Given the description of an element on the screen output the (x, y) to click on. 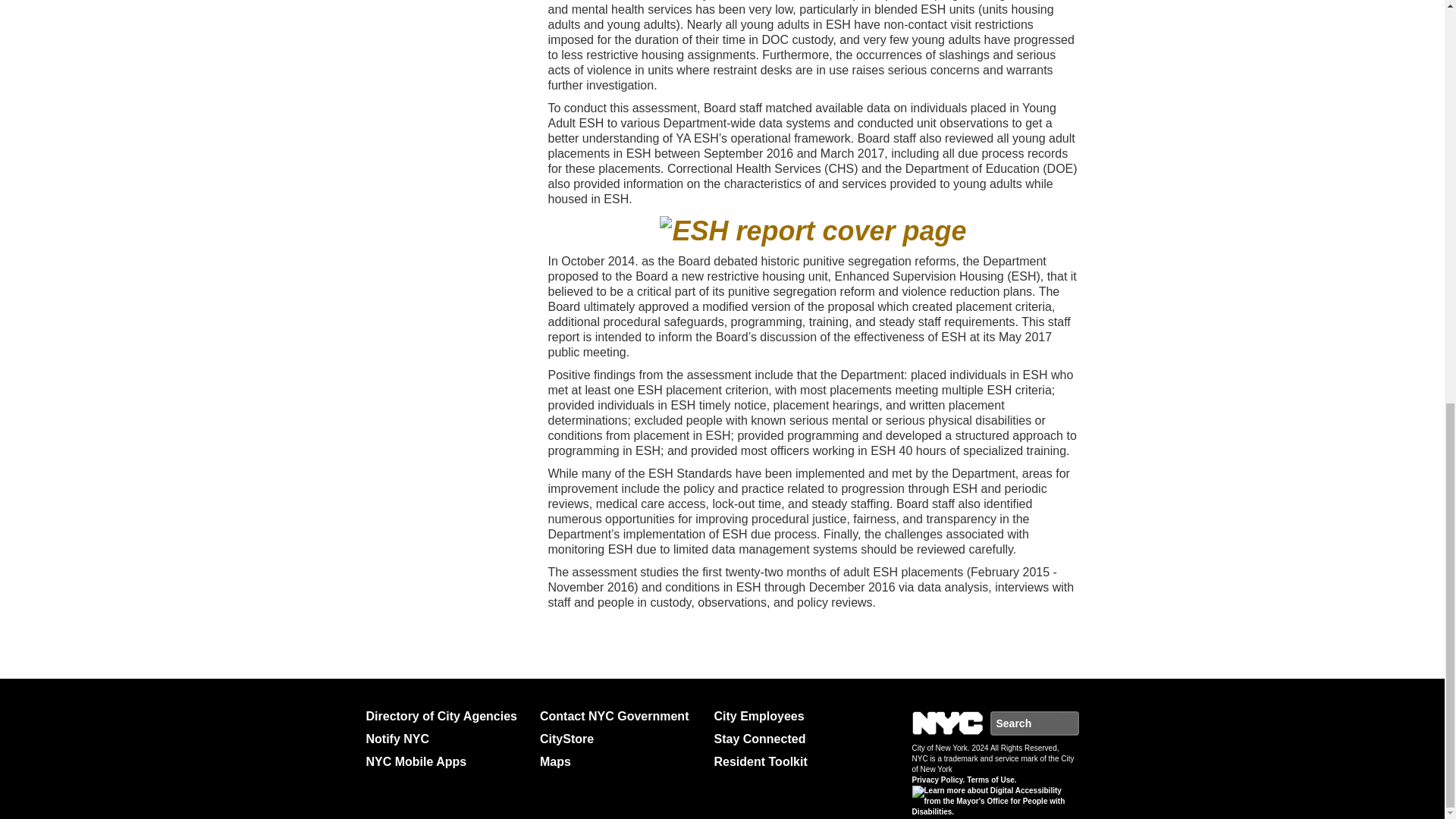
City Employees (795, 716)
Maps (620, 762)
CityStore (620, 739)
Directory of City Agencies (446, 716)
Stay Connected (795, 739)
Resident Toolkit (795, 762)
Notify NYC (446, 739)
Search (1068, 723)
Privacy Ploicy  (937, 779)
NYC Mobile Apps (446, 762)
Terms of Use (991, 779)
Contact NYC Government (620, 716)
Privacy Policy. (937, 779)
